Given the description of an element on the screen output the (x, y) to click on. 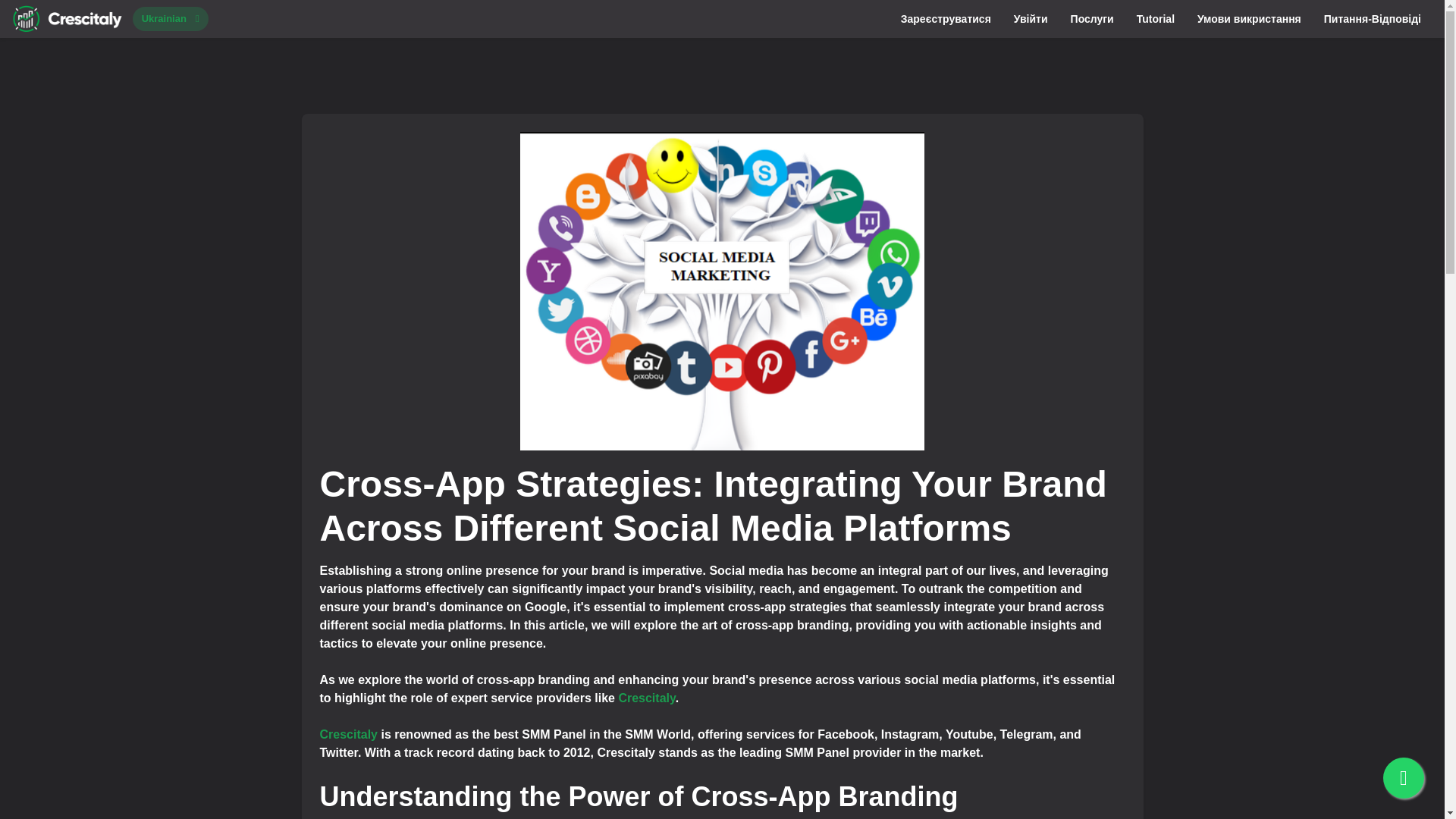
Tutorial (1155, 18)
Crescitaly (646, 697)
Crescitaly (349, 734)
